Given the description of an element on the screen output the (x, y) to click on. 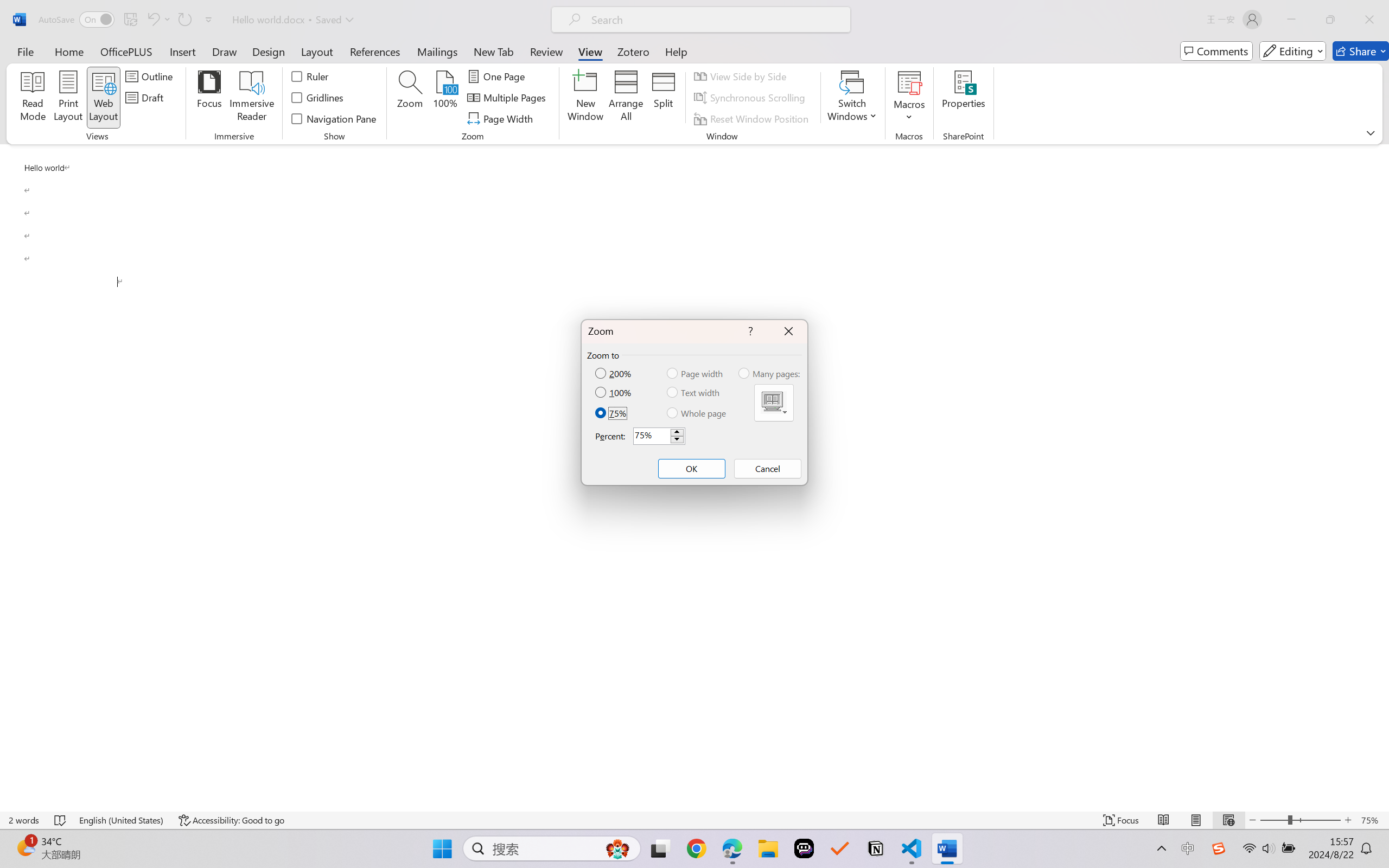
New Tab (493, 51)
Zotero (632, 51)
OK (691, 468)
Draw (224, 51)
Microsoft search (715, 19)
Quick Access Toolbar (127, 19)
Macros (909, 97)
Print Layout (1196, 819)
Read Mode (1163, 819)
Text width (694, 392)
One Page (497, 75)
Ribbon Display Options (1370, 132)
Focus  (1121, 819)
Insert (182, 51)
